Given the description of an element on the screen output the (x, y) to click on. 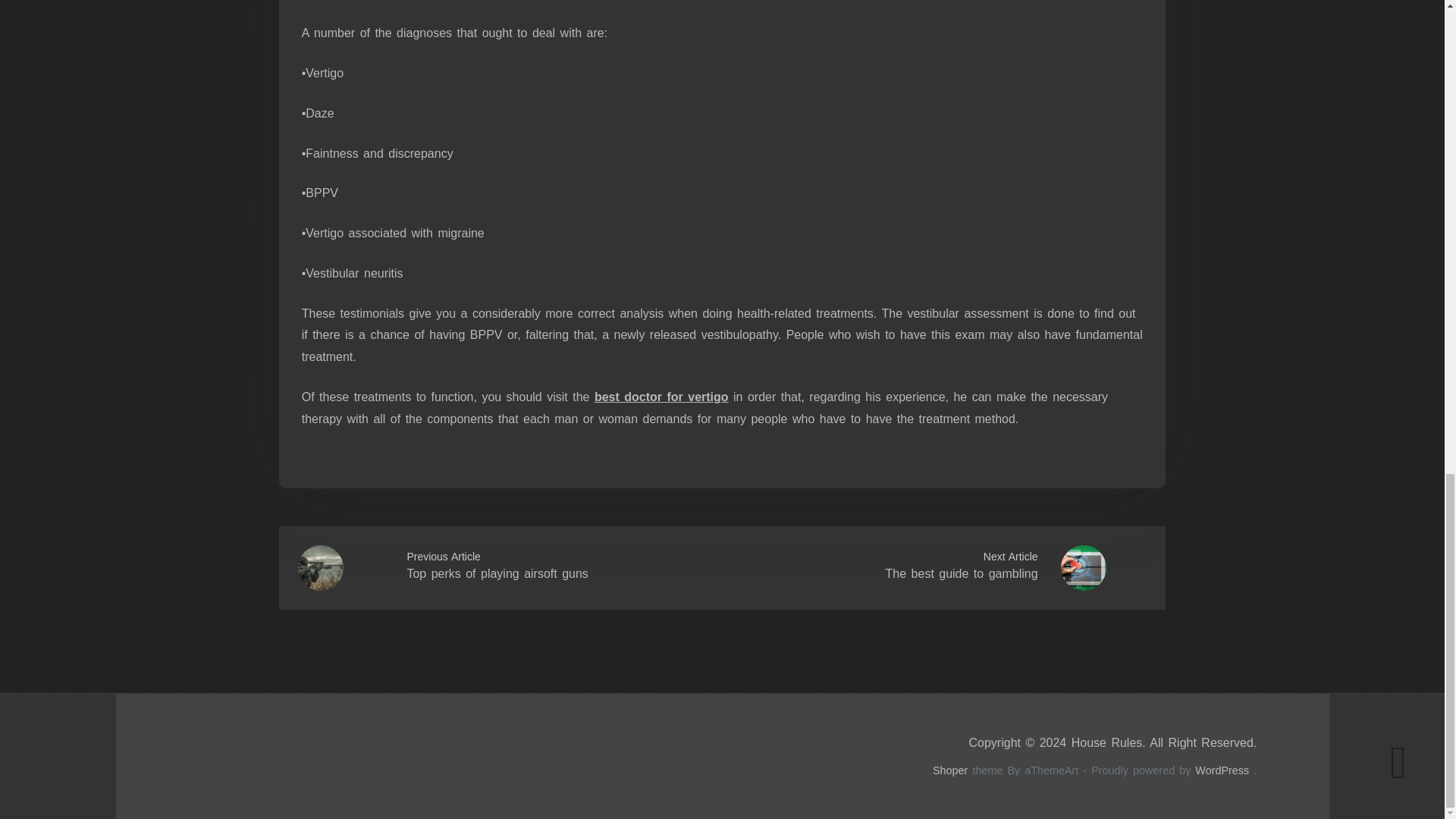
WordPress (1222, 770)
best doctor for vertigo (661, 396)
Top perks of playing airsoft guns (497, 573)
The best guide to gambling (961, 573)
Shoper (950, 770)
